Given the description of an element on the screen output the (x, y) to click on. 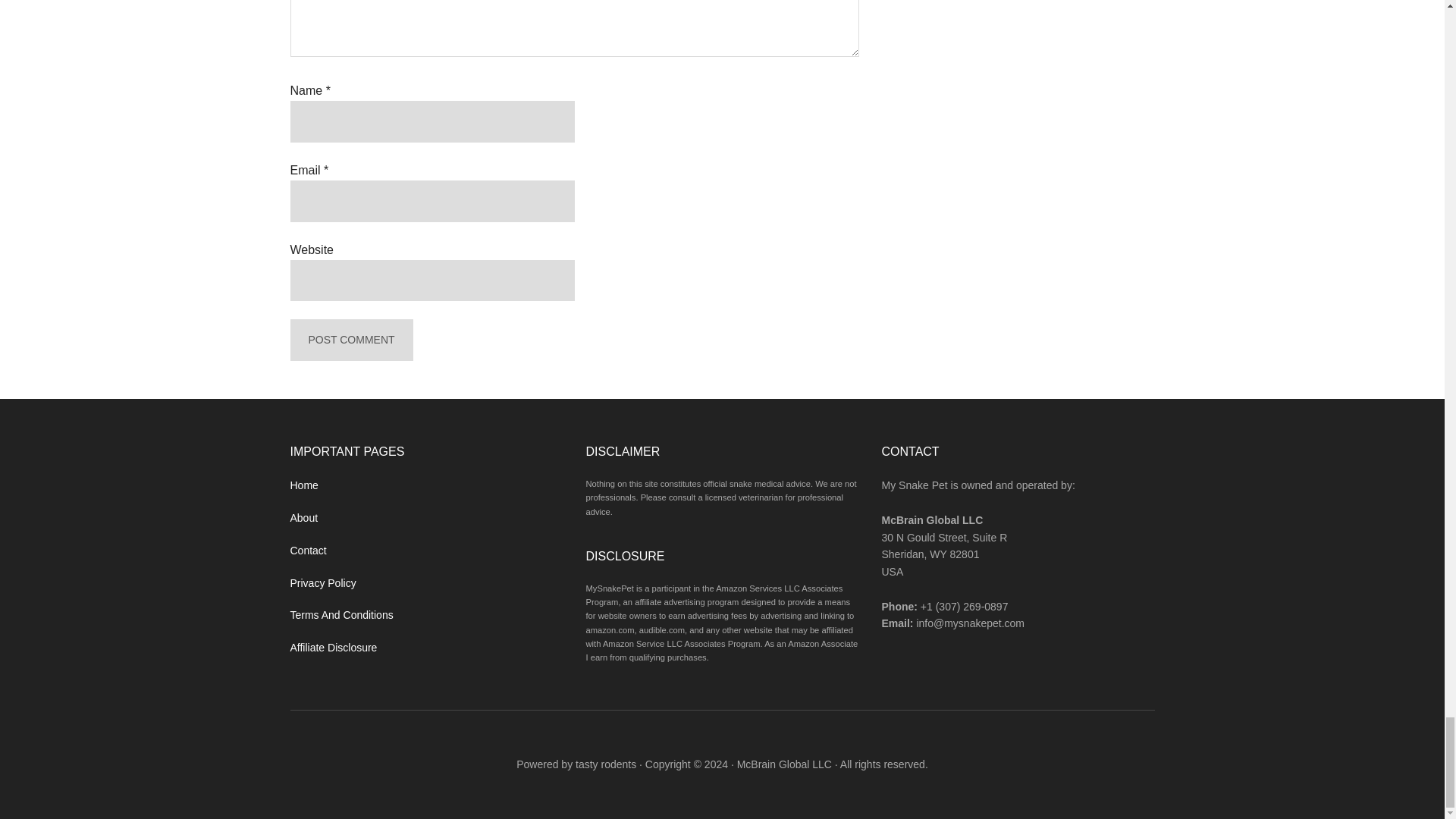
Post Comment (350, 340)
